Given the description of an element on the screen output the (x, y) to click on. 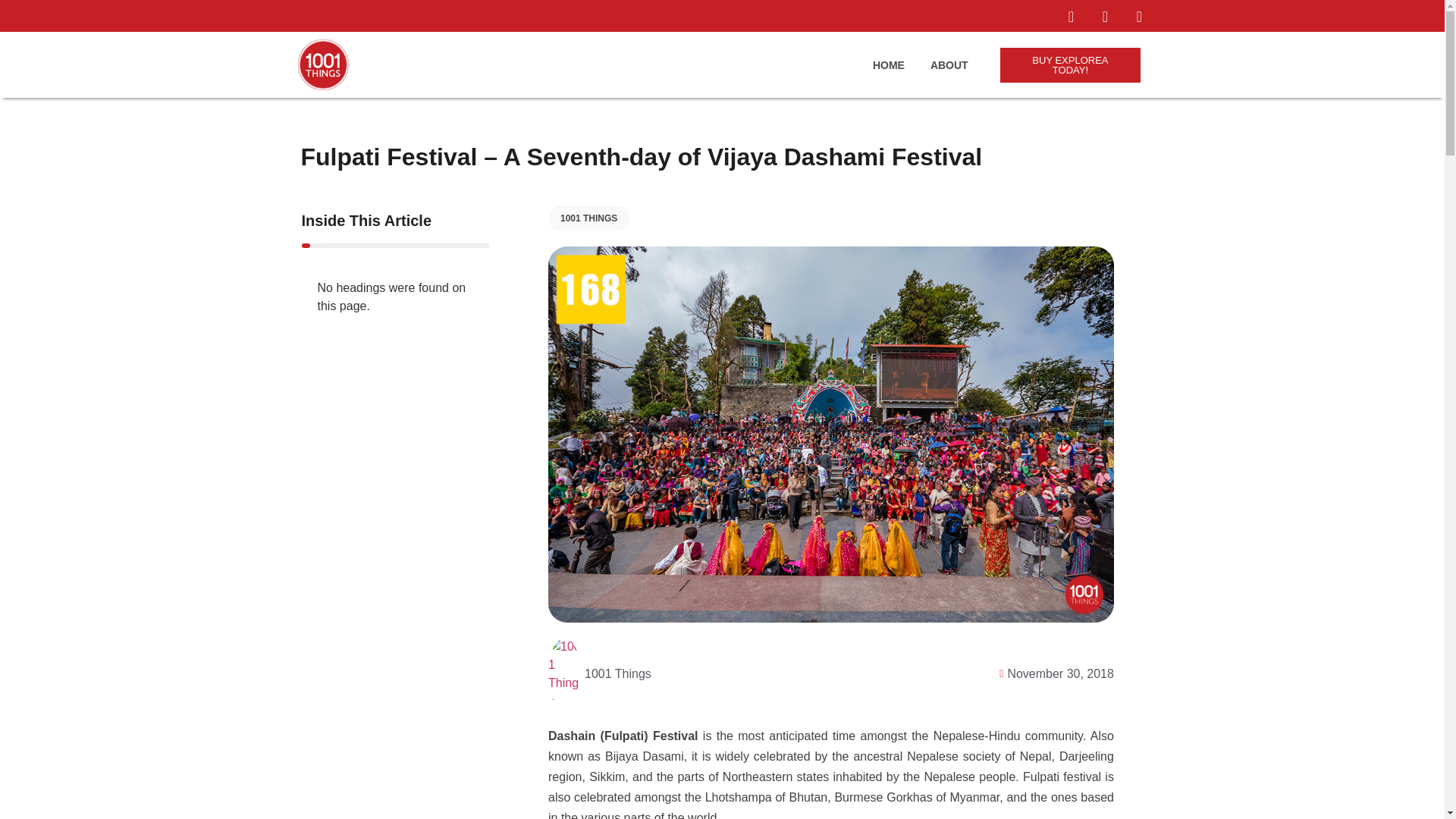
1001 Things (599, 674)
BUY EXPLOREA TODAY! (1070, 64)
November 30, 2018 (1052, 674)
HOME (887, 64)
ABOUT (948, 64)
